Given the description of an element on the screen output the (x, y) to click on. 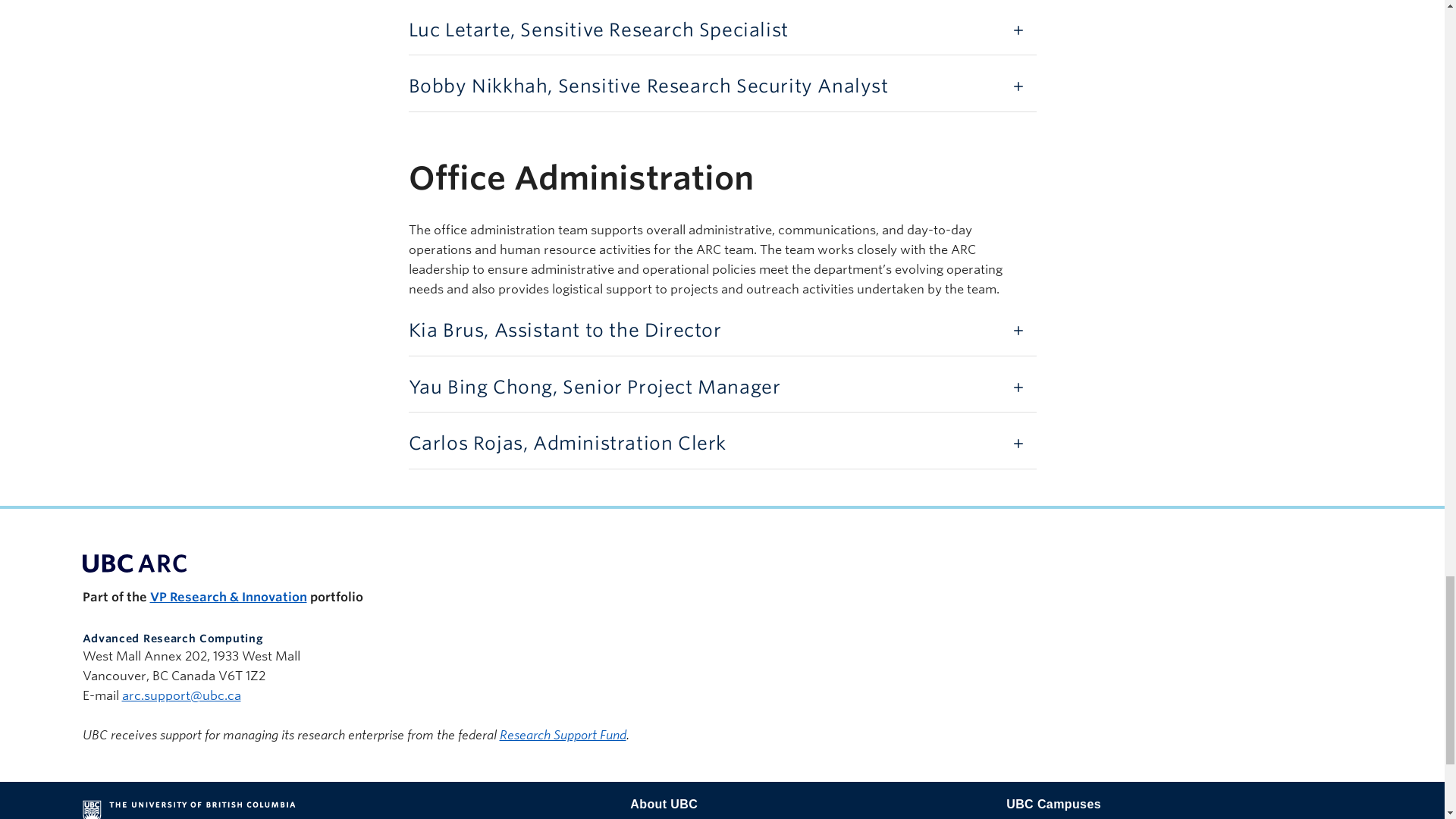
Federal Research Support Fund (562, 735)
Email Advanced Research Computing (180, 695)
